Given the description of an element on the screen output the (x, y) to click on. 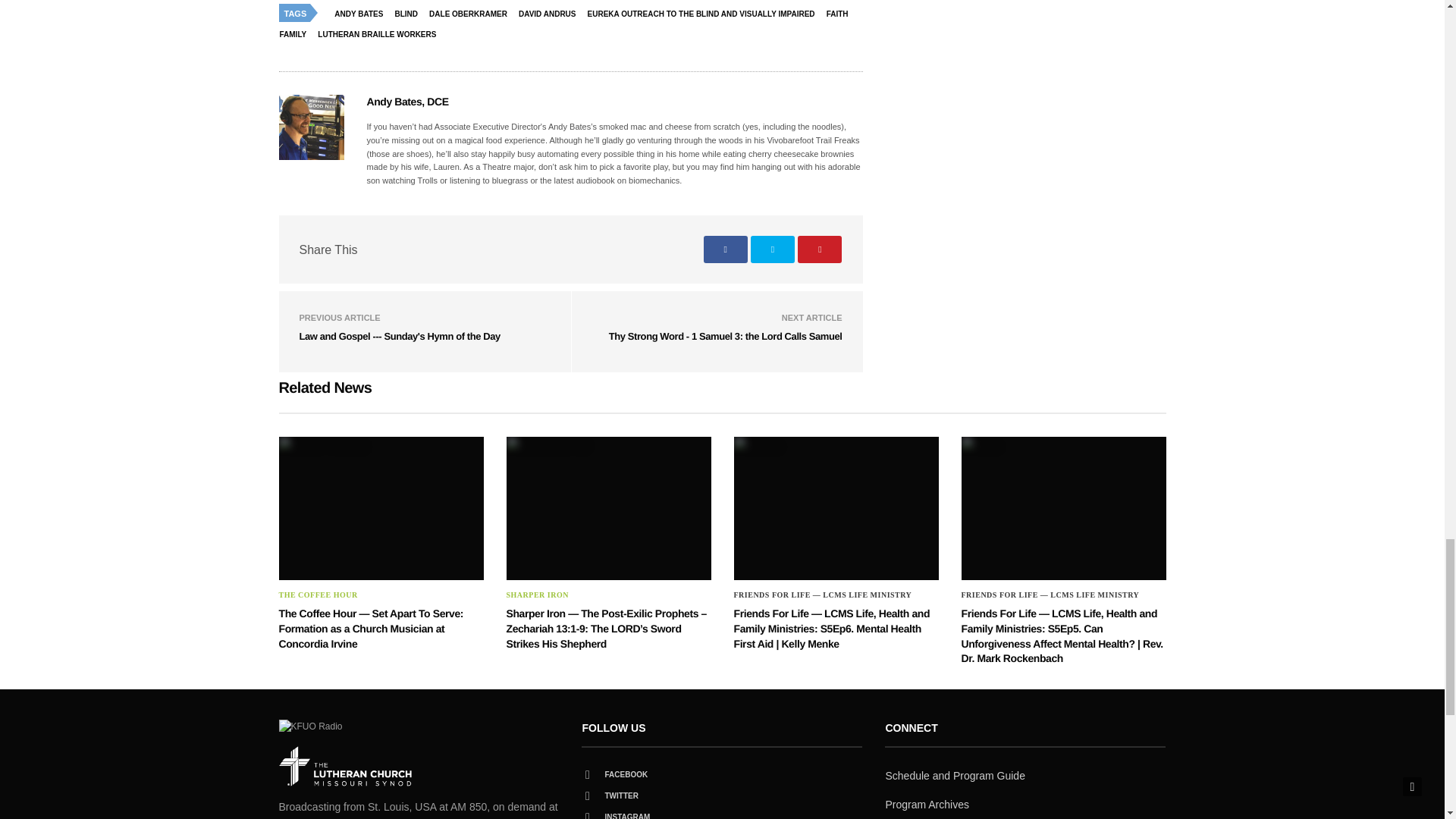
Thy Strong Word - 1 Samuel 3: the Lord Calls Samuel (725, 336)
Law and Gospel --- Sunday's Hymn of the Day (398, 336)
